Given the description of an element on the screen output the (x, y) to click on. 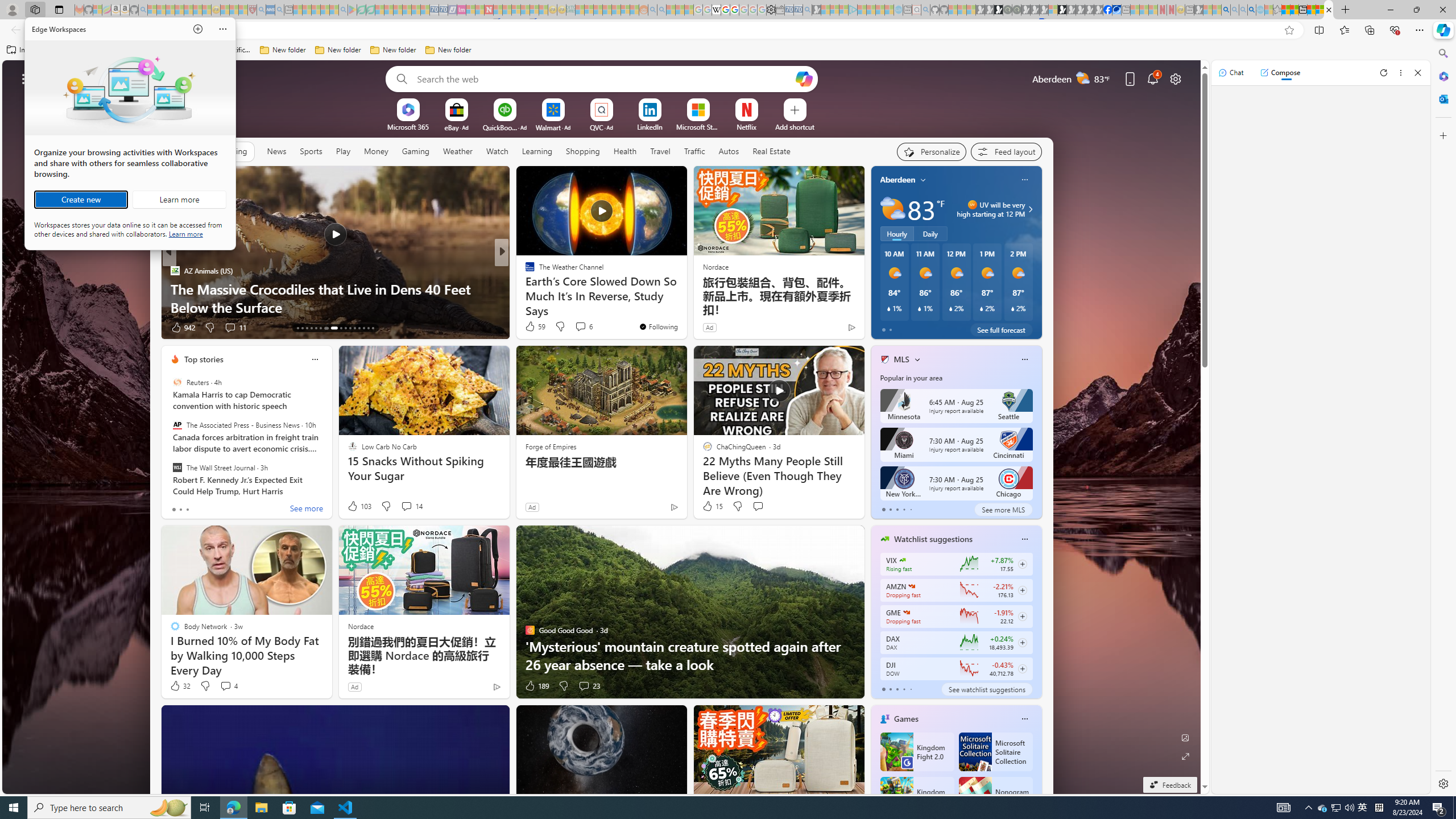
Personalize your feed" (931, 151)
See more MLS (1003, 509)
MLS (901, 359)
View comments 4 Comment (225, 685)
Expand background (1185, 756)
AutomationID: tab-27 (368, 328)
Learn more about Workspaces privacy (185, 233)
Traffic (694, 151)
AutomationID: tab-13 (297, 328)
View comments 4 Comment (228, 685)
View comments 6 Comment (582, 326)
